Given the description of an element on the screen output the (x, y) to click on. 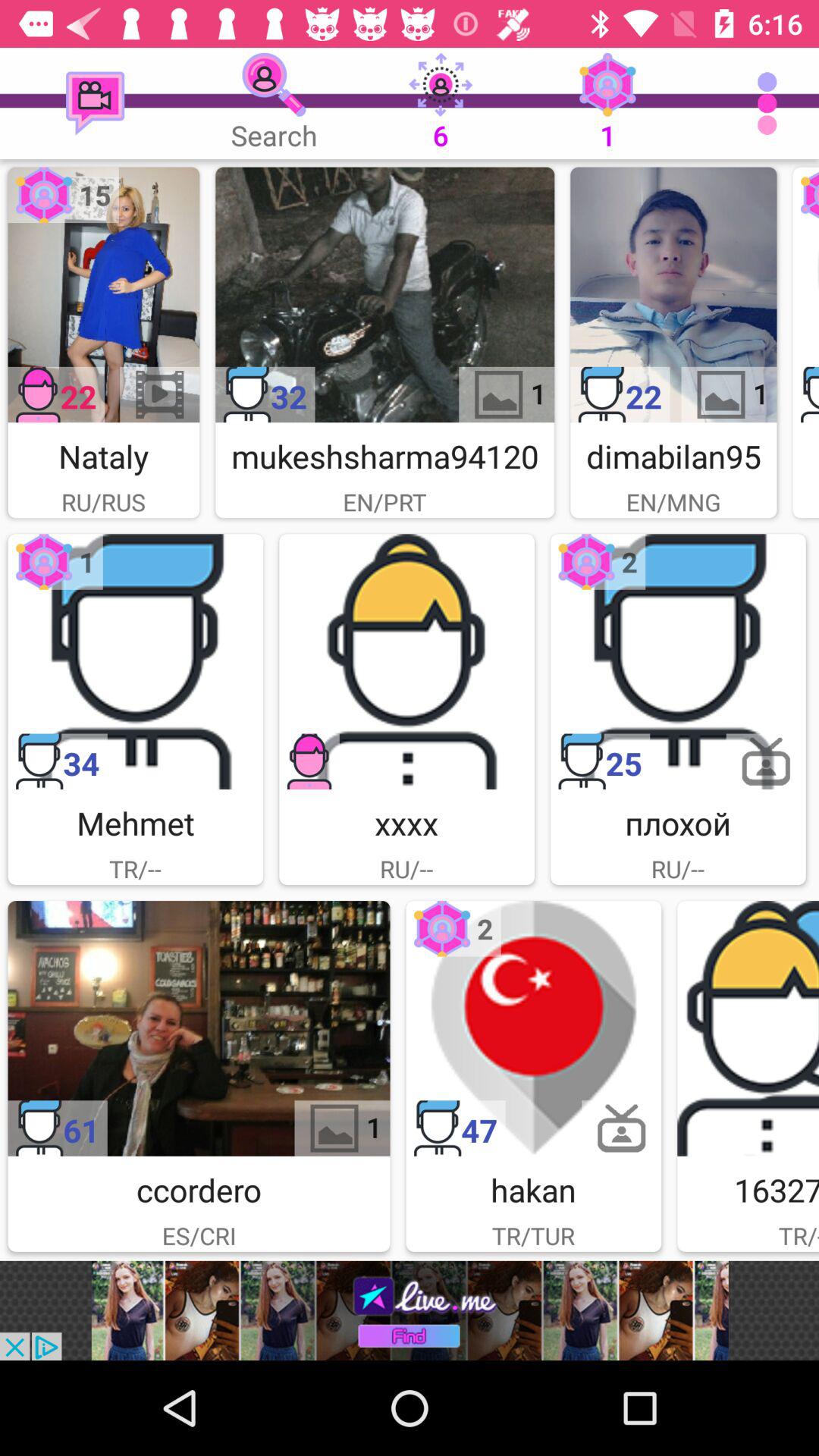
selection choice (748, 1028)
